Given the description of an element on the screen output the (x, y) to click on. 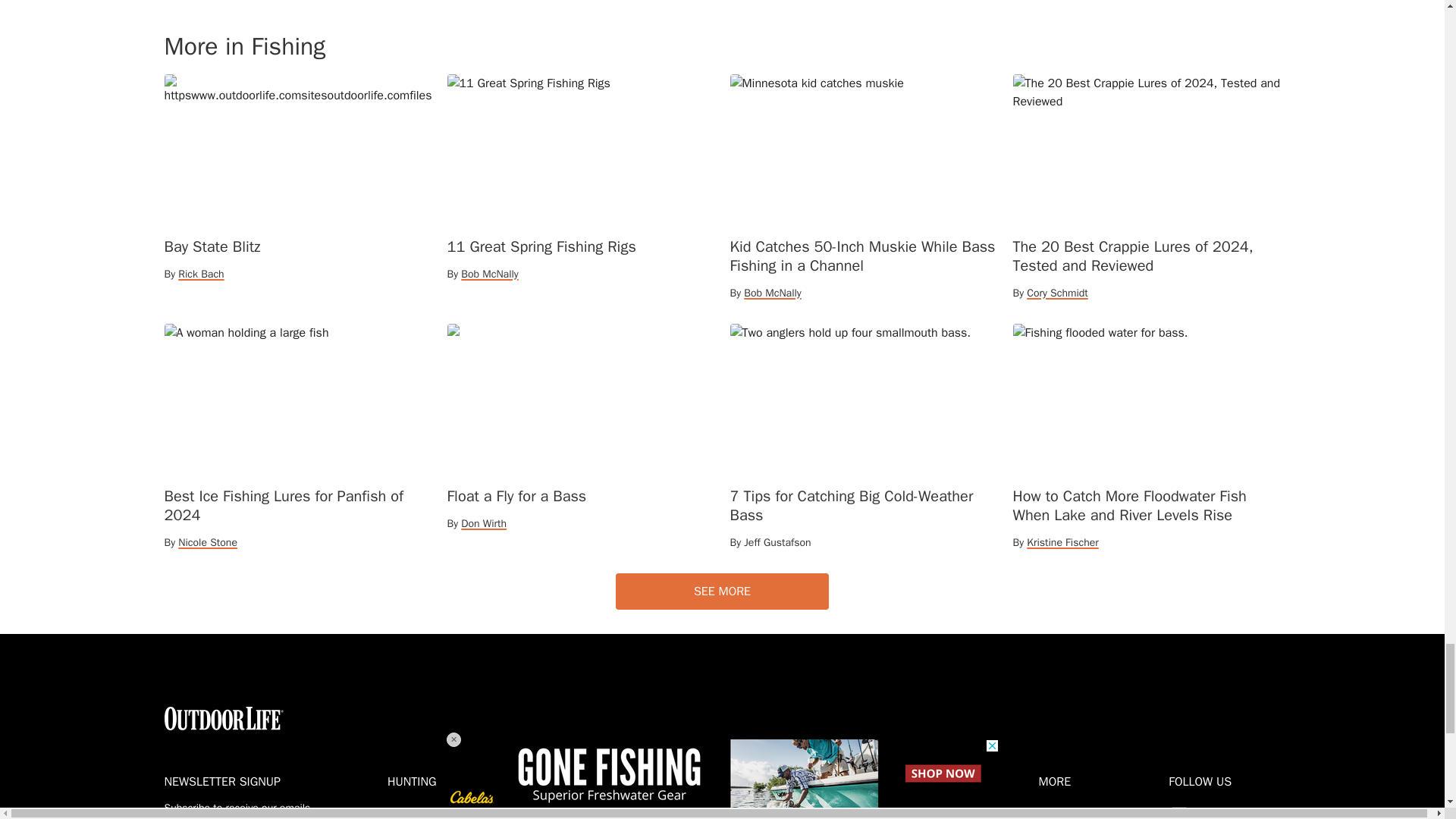
Hunting (449, 782)
Big Game Hunting (443, 813)
